Given the description of an element on the screen output the (x, y) to click on. 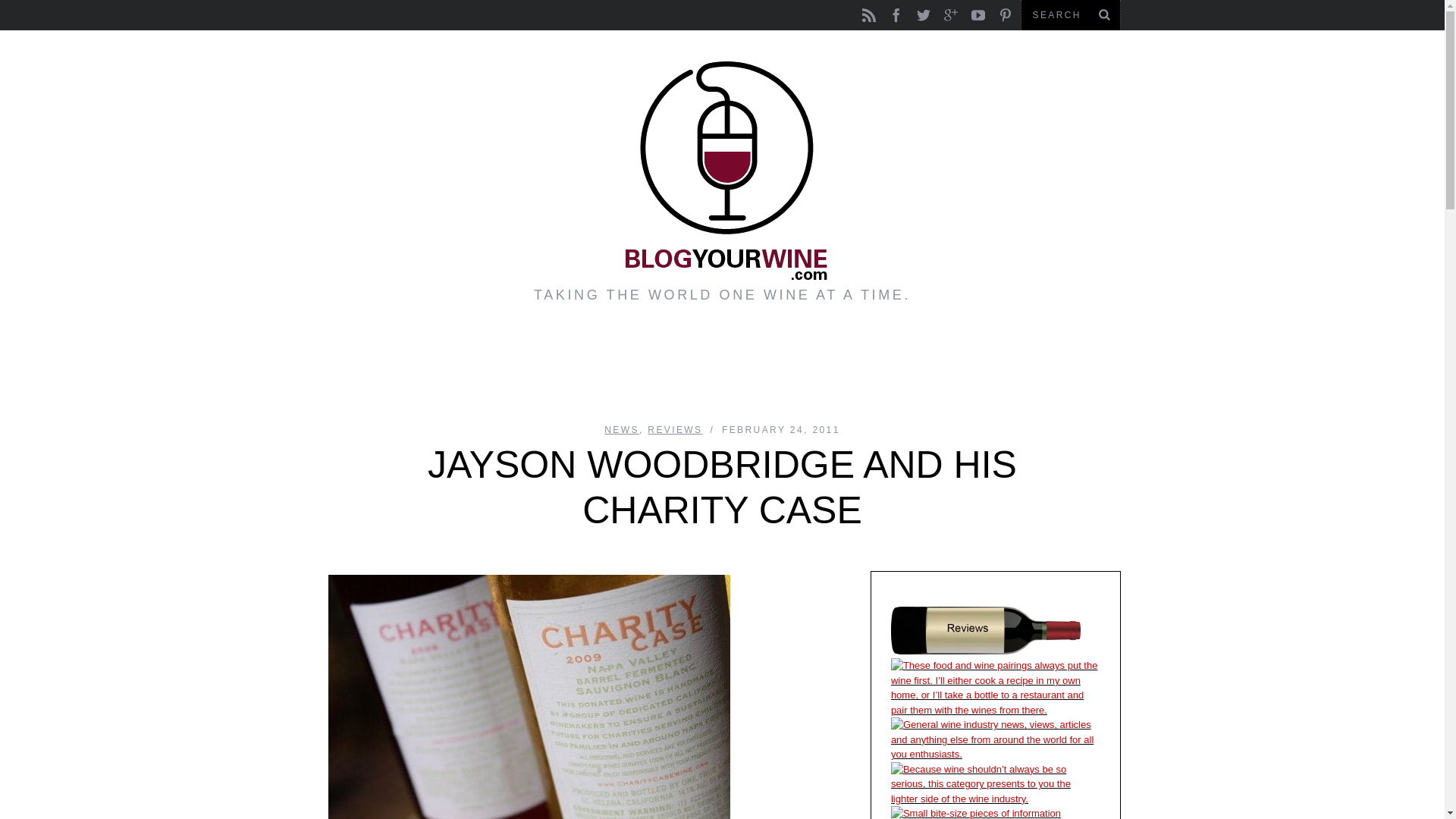
Search (1070, 15)
Charity Case wine by Jayson Woodbridge (528, 696)
NEWS (621, 429)
REVIEWS (674, 429)
Blog Your Wine - Taking the world one wine at a time. (721, 169)
